Given the description of an element on the screen output the (x, y) to click on. 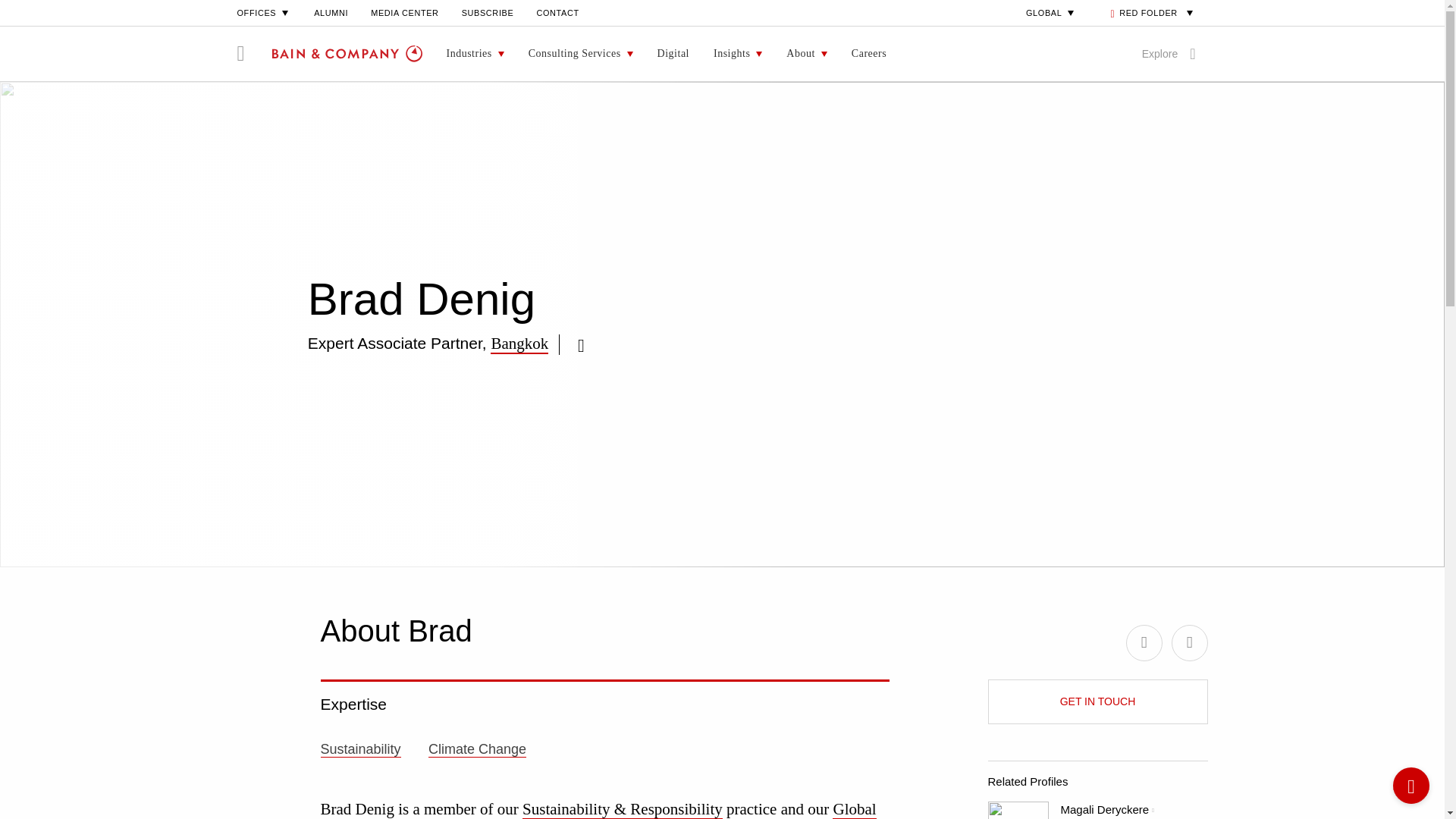
OFFICES (263, 12)
